Given the description of an element on the screen output the (x, y) to click on. 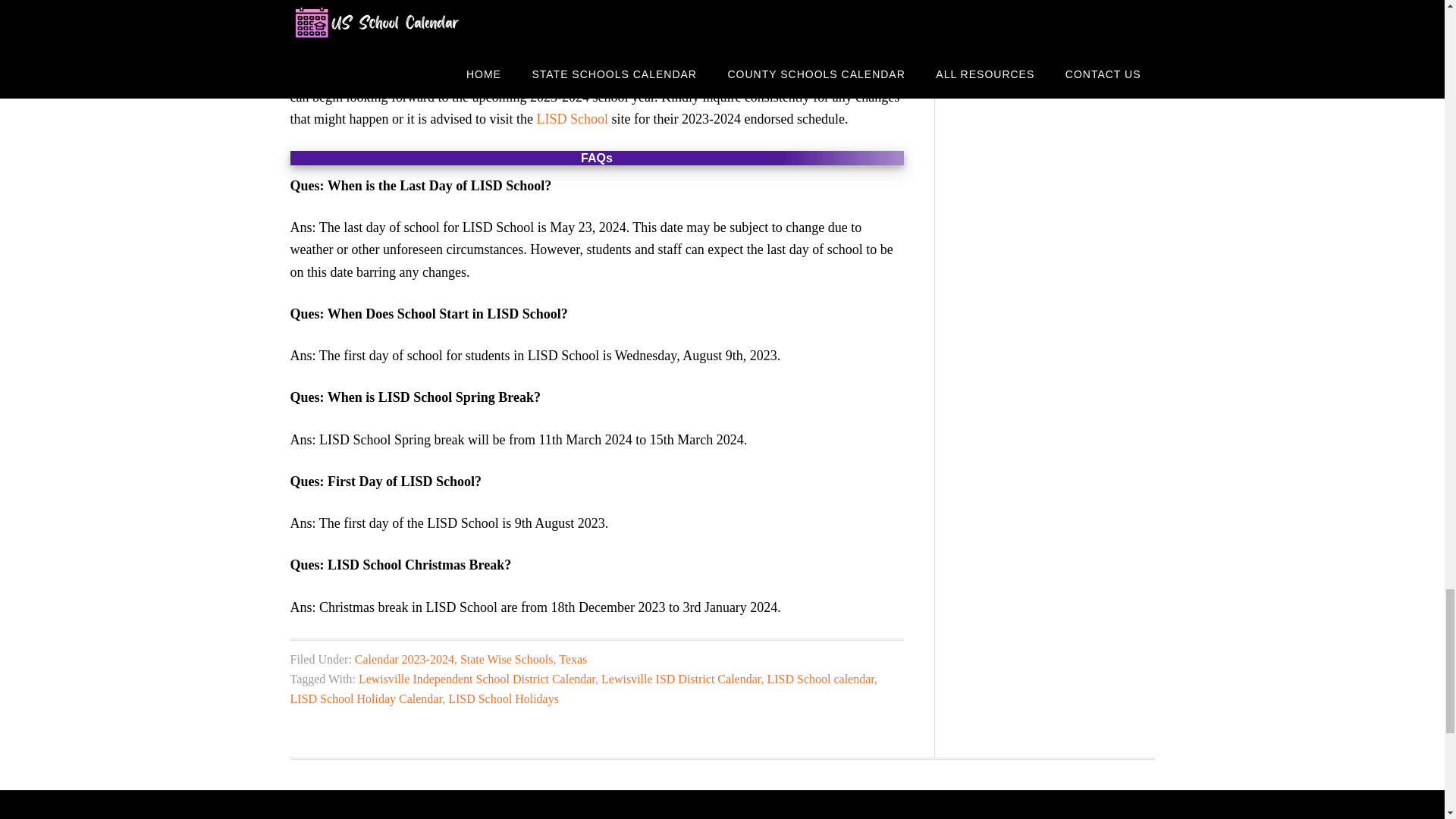
Lewisville ISD District Calendar (680, 678)
Calendar 2023-2024 (404, 658)
LISD School Holidays (503, 698)
LISD School (571, 118)
Texas (572, 658)
State Wise Schools (506, 658)
LISD School Holiday Calendar (365, 698)
LISD School calendar (821, 678)
Lewisville Independent School District Calendar (476, 678)
